Given the description of an element on the screen output the (x, y) to click on. 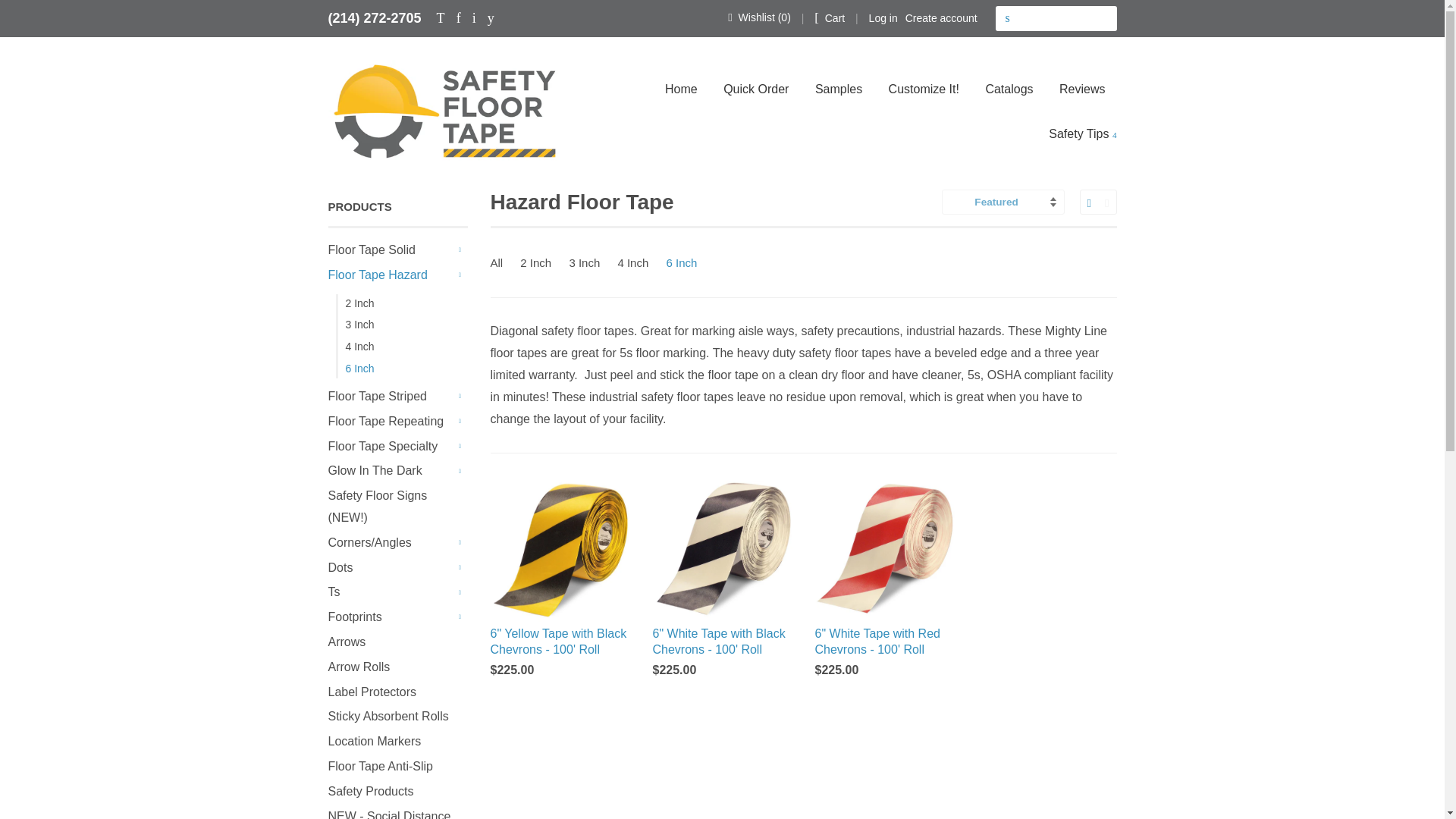
Instagram (473, 17)
SafetyFloorTape.com on Twitter (440, 17)
Remove tag 6 Inch (683, 262)
Log in (883, 18)
Create account (940, 18)
Grid view (1088, 202)
SafetyFloorTape.com on Facebook (459, 17)
Cart (828, 17)
List view (1106, 202)
YouTube (491, 17)
Facebook (459, 17)
Show products matching tag 4 Inch (635, 262)
Show products matching tag 3 Inch (587, 262)
Twitter (440, 17)
Search (1006, 18)
